Given the description of an element on the screen output the (x, y) to click on. 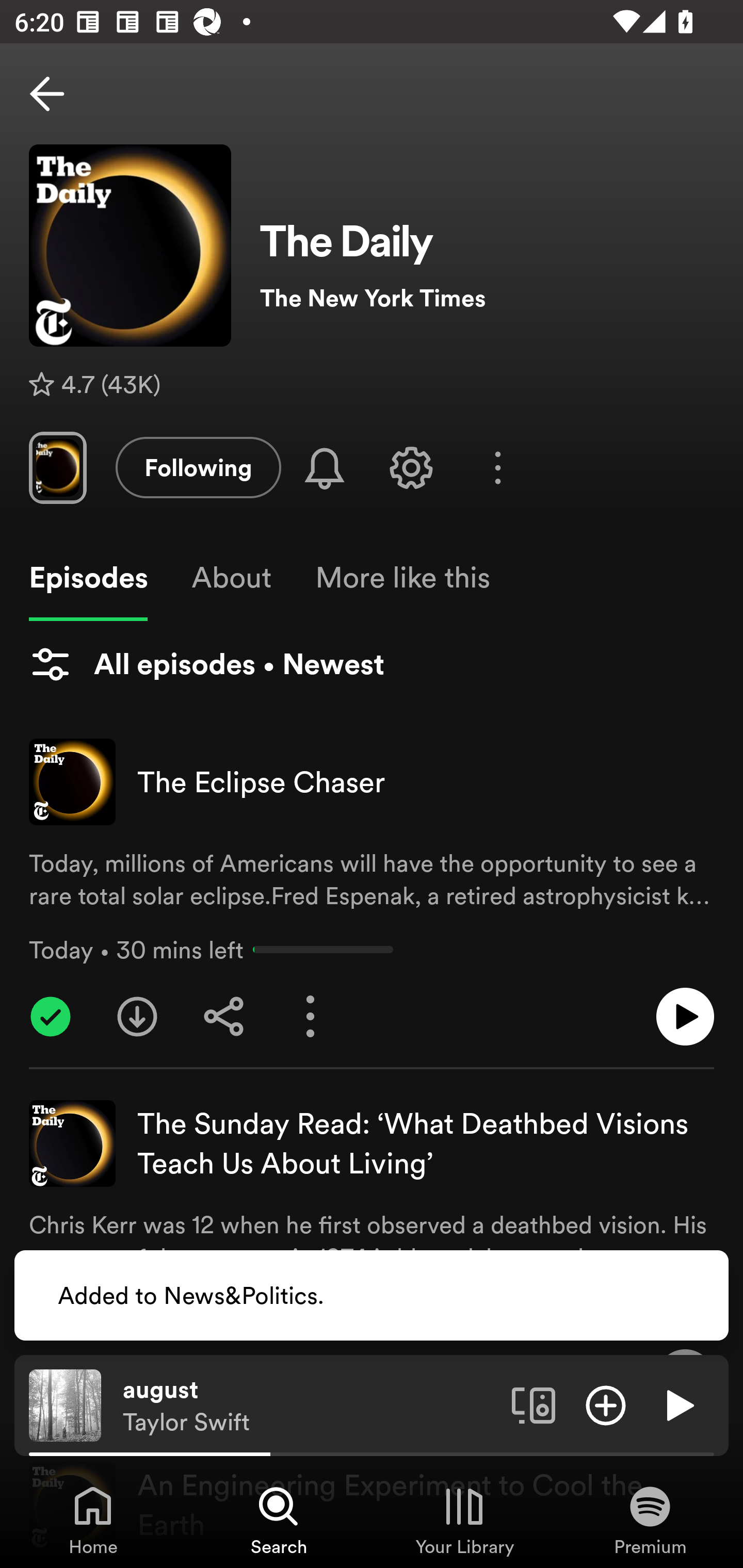
Back (46, 93)
The New York Times (487, 297)
Following Unfollow this show (197, 466)
Settings for this Show. (410, 467)
More options for show The Daily (497, 467)
About (231, 577)
More like this (402, 577)
All episodes • Newest (206, 663)
The Eclipse Chaser added to Your Episodes (50, 1016)
Download episode: The Eclipse Chaser (136, 1016)
Share (223, 1016)
More options for episode The Eclipse Chaser (310, 1016)
Play episode: The Eclipse Chaser (684, 1016)
august Taylor Swift (309, 1405)
The cover art of the currently playing track (64, 1404)
Connect to a device. Opens the devices menu (533, 1404)
Add item (605, 1404)
Play (677, 1404)
Home, Tab 1 of 4 Home Home (92, 1519)
Search, Tab 2 of 4 Search Search (278, 1519)
Your Library, Tab 3 of 4 Your Library Your Library (464, 1519)
Premium, Tab 4 of 4 Premium Premium (650, 1519)
